Given the description of an element on the screen output the (x, y) to click on. 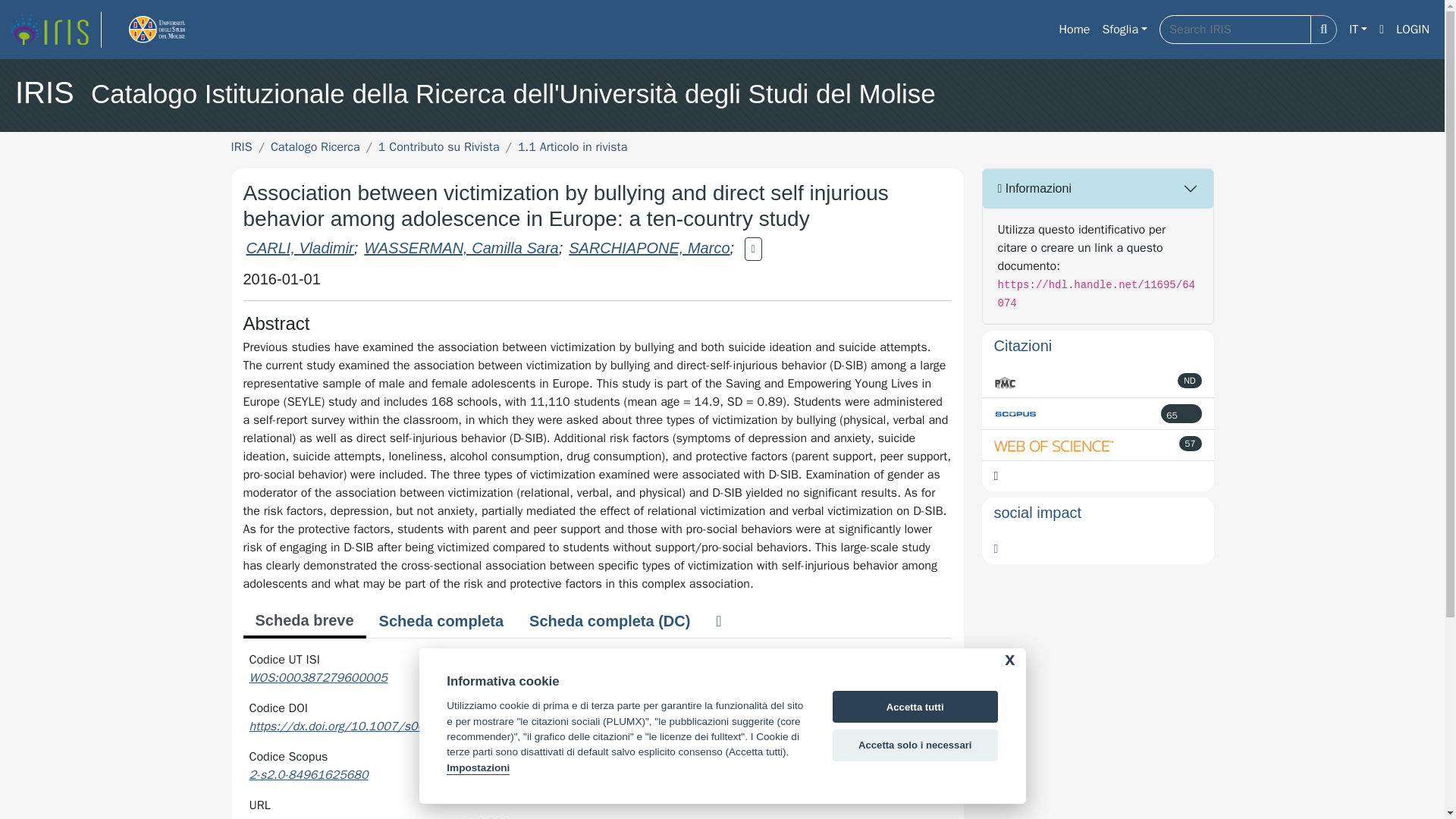
WOS:000387279600005 (317, 677)
Home (1074, 29)
LOGIN (1412, 29)
Catalogo Ricerca (314, 146)
CARLI, Vladimir (299, 247)
WASSERMAN, Camilla Sara (460, 247)
IT (1357, 29)
 Informazioni (1097, 188)
1 Contributo su Rivista (438, 146)
Scheda completa (441, 621)
